Given the description of an element on the screen output the (x, y) to click on. 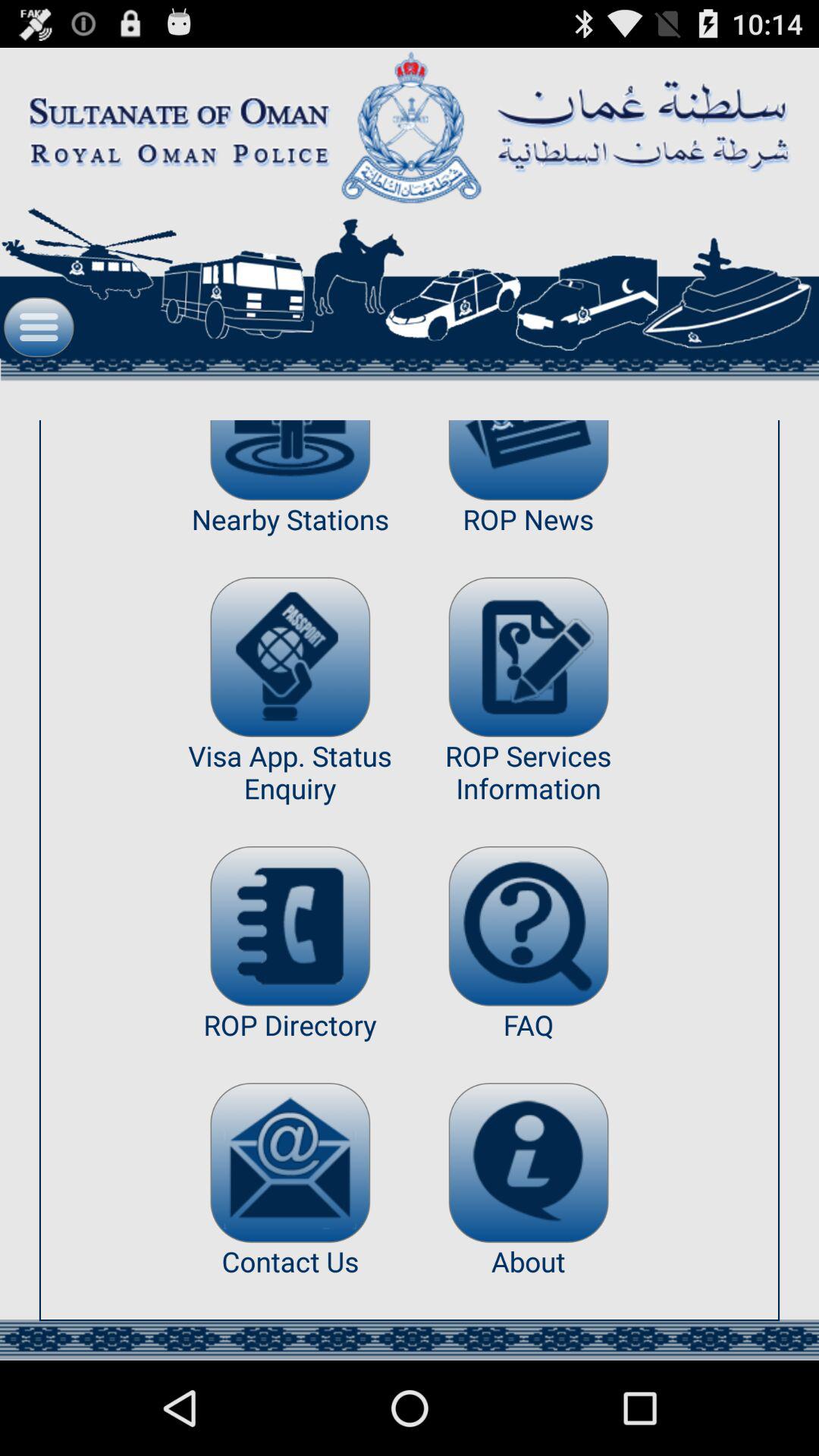
locate nearby police stations (290, 460)
